Given the description of an element on the screen output the (x, y) to click on. 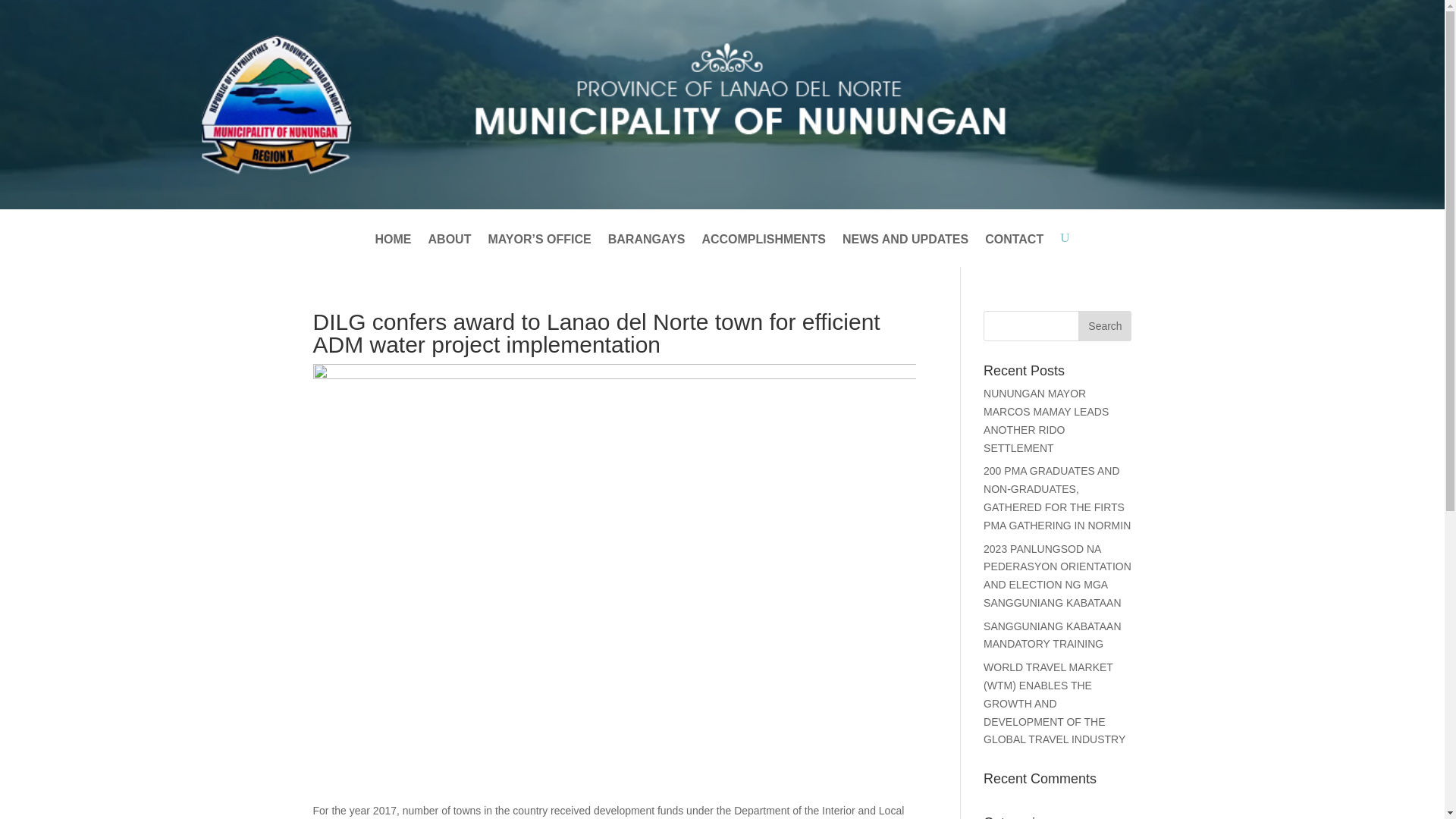
CONTACT (1014, 250)
Search (1104, 326)
Search (1104, 326)
NEWS AND UPDATES (905, 250)
HOME (393, 250)
NUNUNGAN MAYOR MARCOS MAMAY LEADS ANOTHER RIDO SETTLEMENT (1046, 420)
SANGGUNIANG KABATAAN MANDATORY TRAINING (1052, 634)
BARANGAYS (646, 250)
ABOUT (449, 250)
ACCOMPLISHMENTS (763, 250)
